Given the description of an element on the screen output the (x, y) to click on. 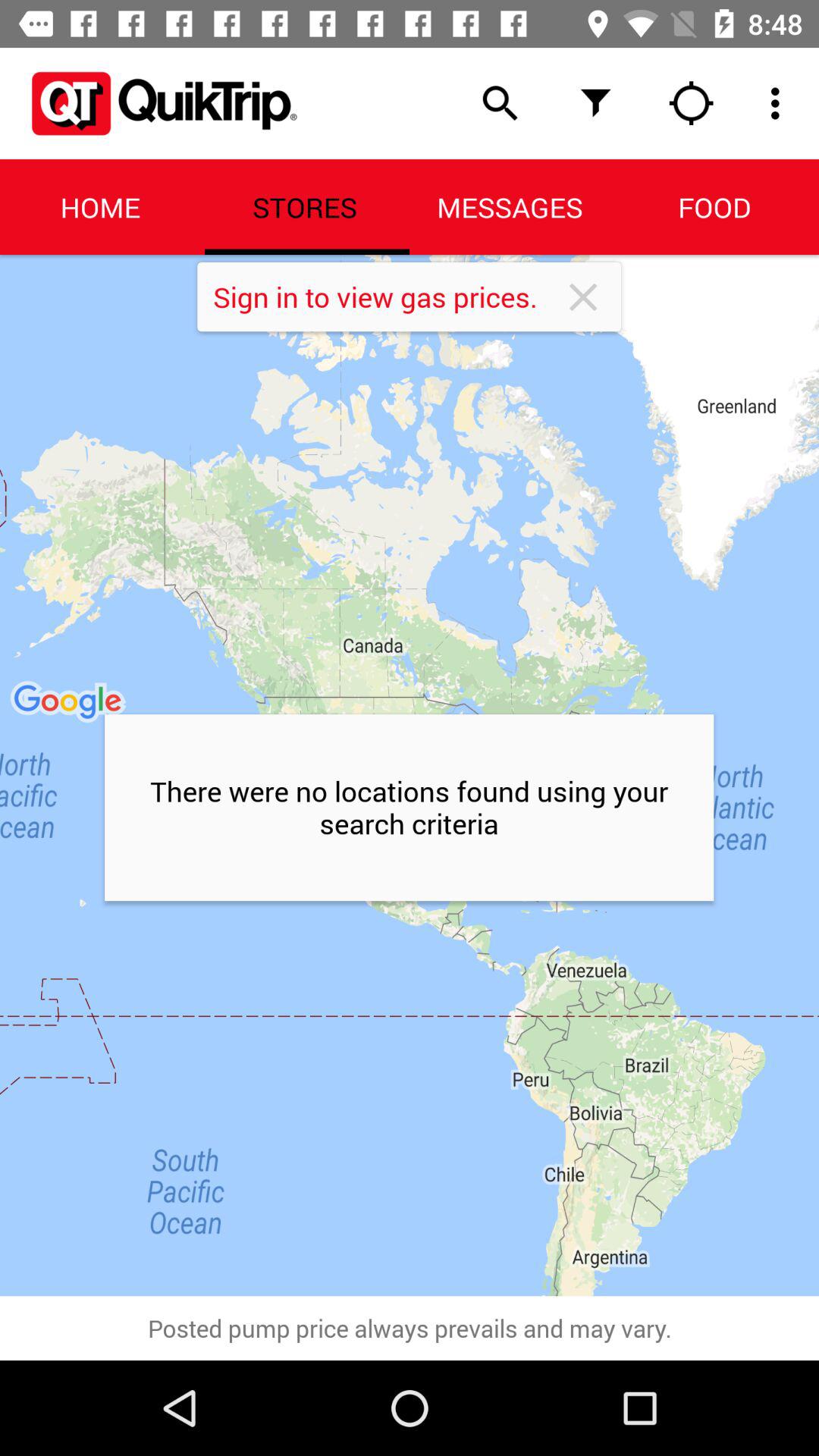
open the sign in to item (387, 296)
